Given the description of an element on the screen output the (x, y) to click on. 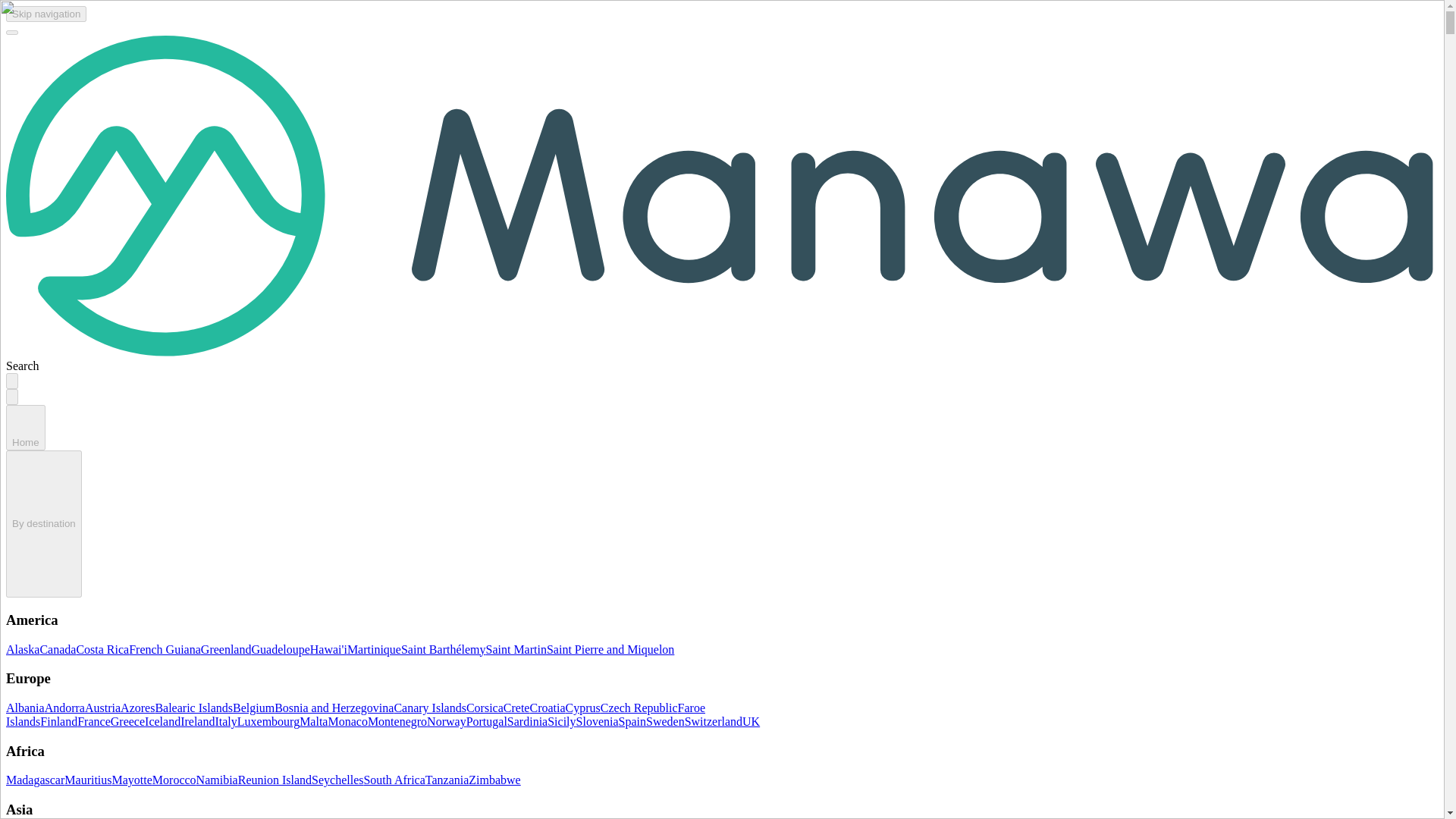
Croatia (546, 707)
Faroe Islands (354, 714)
Crete (516, 707)
Skip navigation (45, 12)
Corsica (484, 707)
Costa Rica (102, 649)
Belgium (253, 707)
Home (25, 440)
France (93, 721)
Andorra (64, 707)
Canada (57, 649)
Greenland (225, 649)
Finland (58, 721)
Albania (25, 707)
Ireland (197, 721)
